Given the description of an element on the screen output the (x, y) to click on. 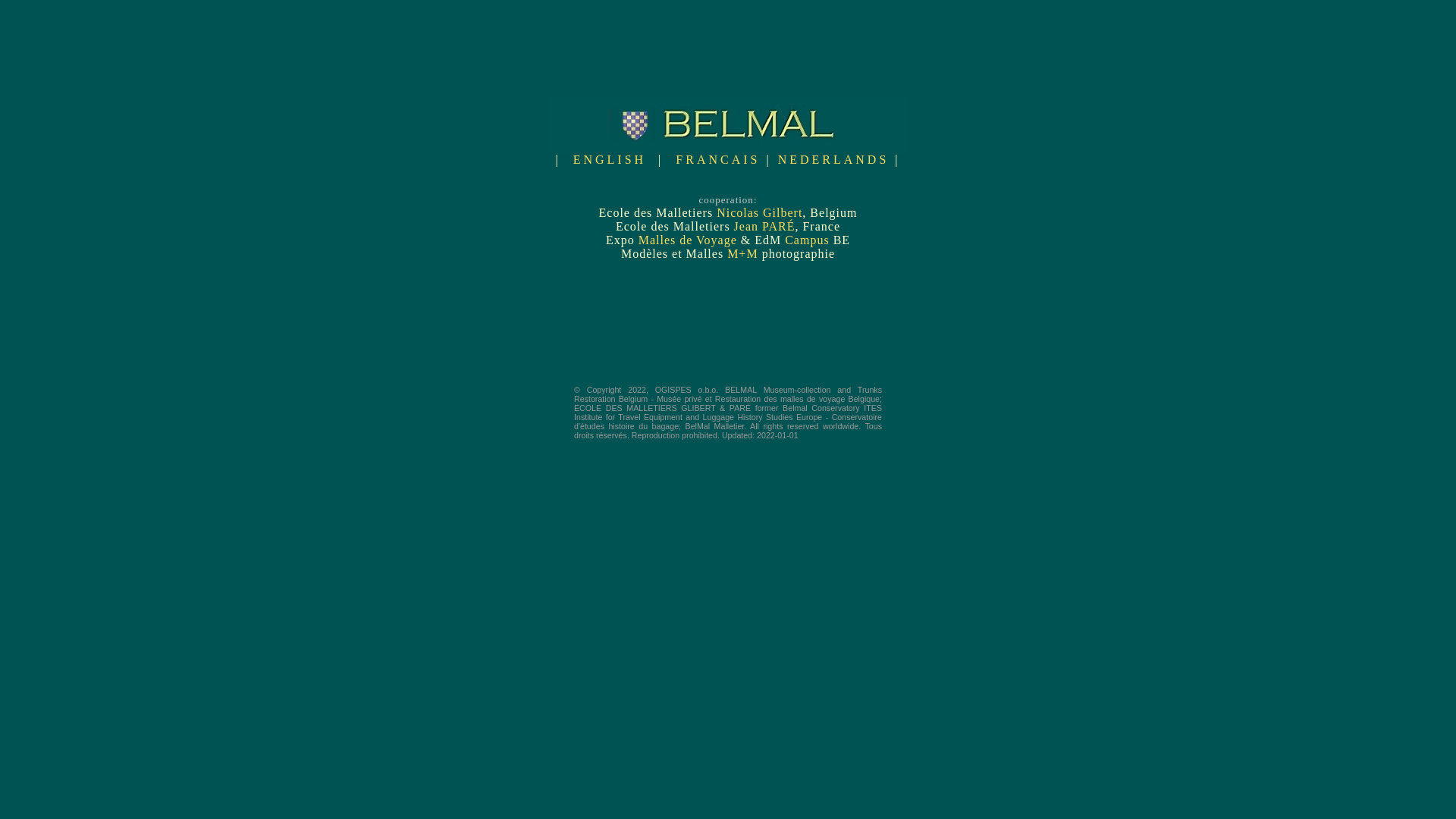
ENGLISH Element type: text (609, 159)
M+M Element type: text (742, 253)
Malles de Voyage Element type: text (687, 239)
Campus Element type: text (808, 239)
FRANCAIS Element type: text (717, 159)
Nicolas Gilbert Element type: text (759, 212)
NEDERLANDS Element type: text (833, 159)
